Given the description of an element on the screen output the (x, y) to click on. 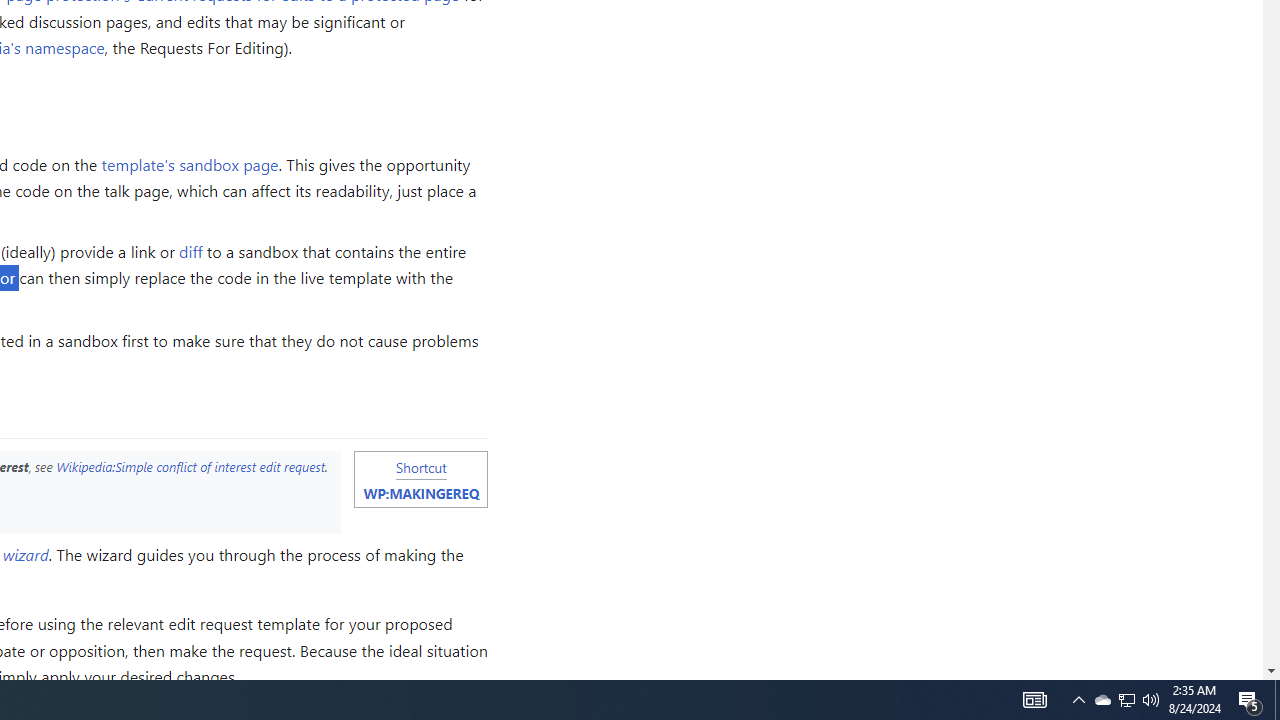
template's sandbox page (190, 163)
Shortcut (420, 466)
diff (191, 251)
WP:MAKINGEREQ (420, 493)
Wikipedia:Simple conflict of interest edit request (190, 466)
